Given the description of an element on the screen output the (x, y) to click on. 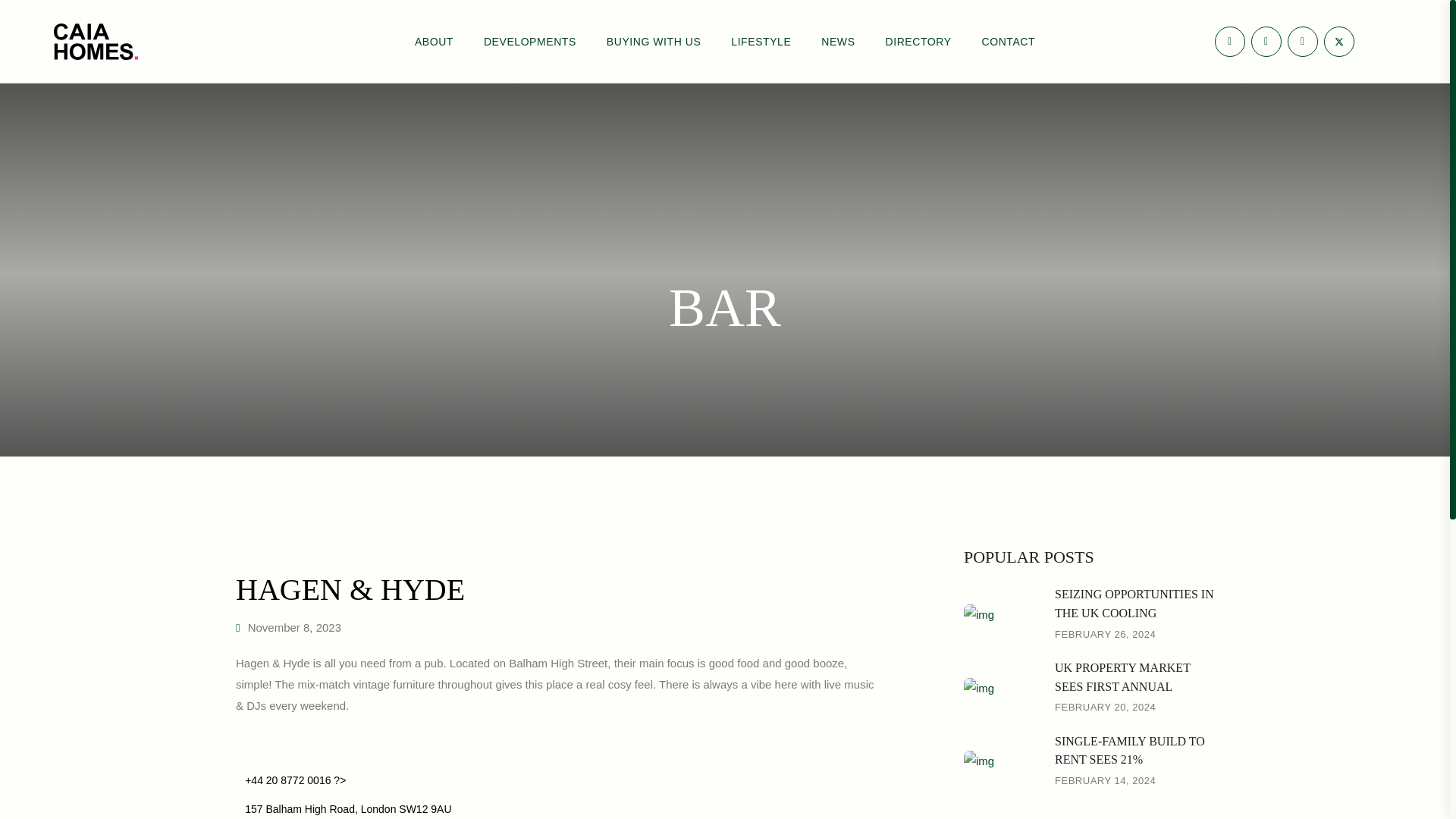
LIFESTYLE (761, 41)
LifeStyle (761, 41)
Buying With Us (653, 41)
DIRECTORY (918, 41)
Directory (918, 41)
BUYING WITH US (653, 41)
SEIZING OPPORTUNITIES IN THE UK COOLING (1134, 603)
CONTACT (1008, 41)
DEVELOPMENTS (529, 41)
Developments (529, 41)
Contact (1008, 41)
UK PROPERTY MARKET SEES FIRST ANNUAL (1122, 676)
